Given the description of an element on the screen output the (x, y) to click on. 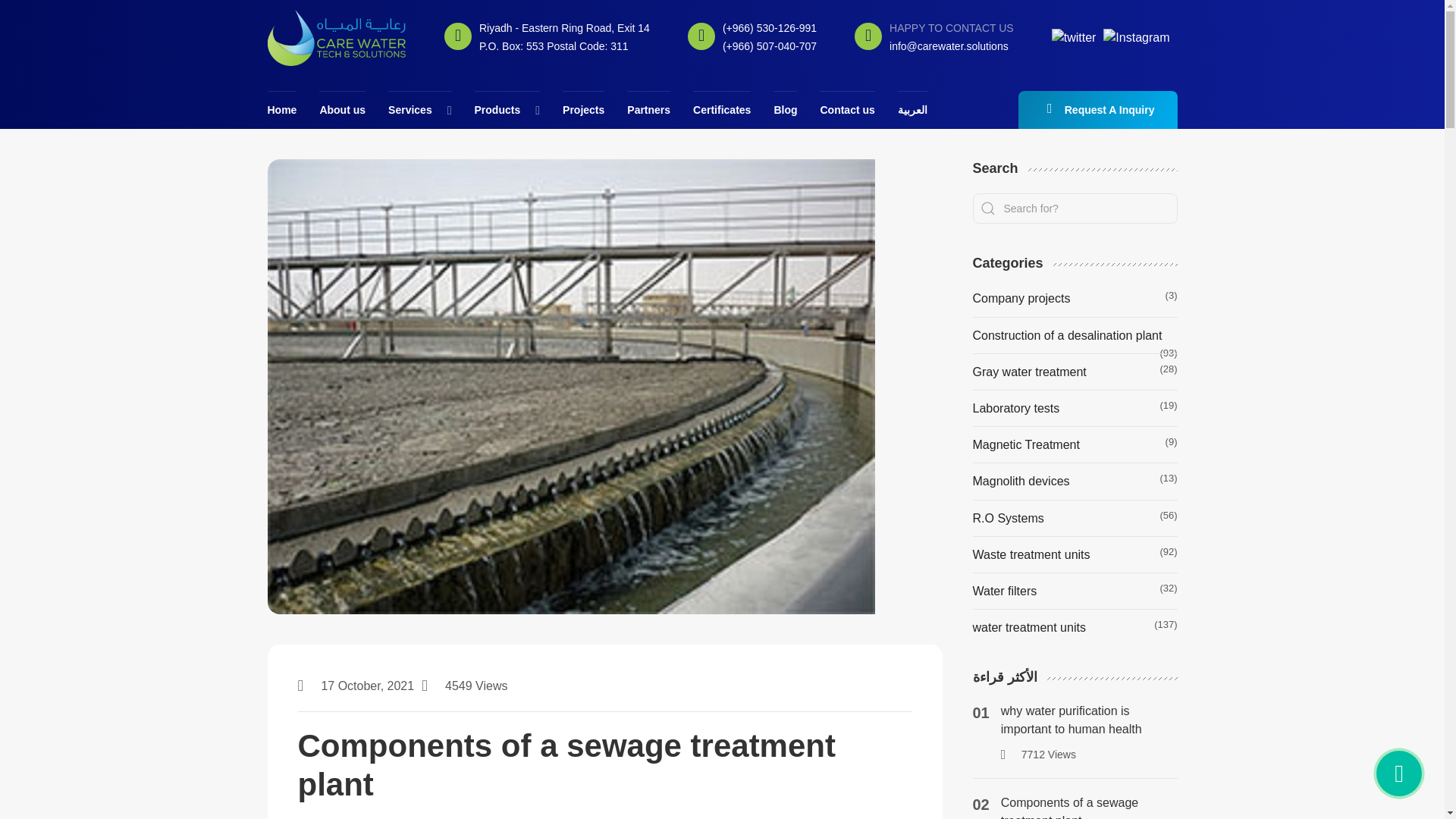
Products (497, 109)
Company projects (1021, 298)
About us (341, 109)
Gray water treatment (1029, 371)
Contact us (847, 109)
Request A Inquiry (1097, 109)
Laboratory tests (1015, 408)
Partners (648, 109)
Construction of a desalination plant (1066, 335)
